Given the description of an element on the screen output the (x, y) to click on. 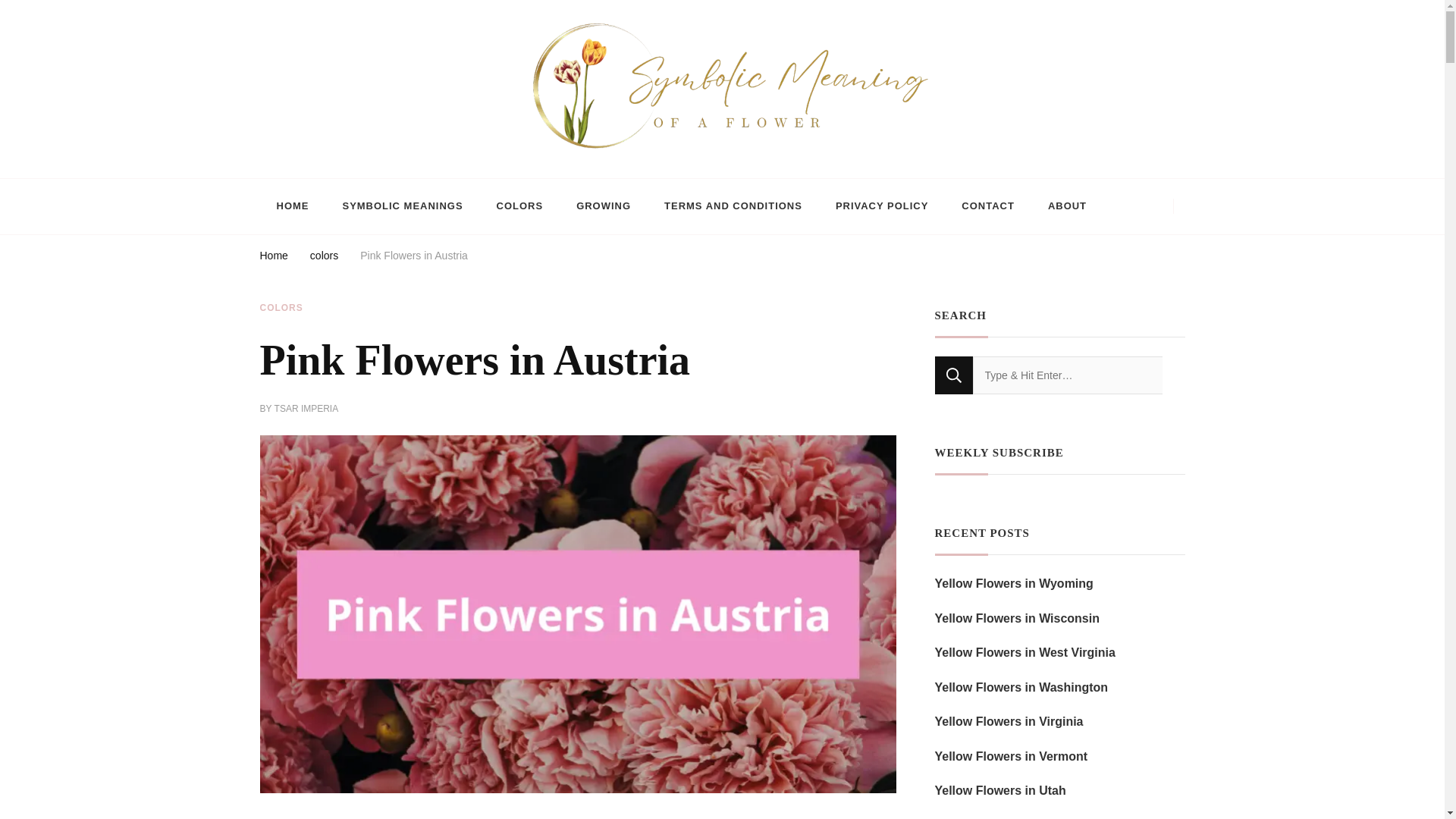
CONTACT (987, 206)
ABOUT (1066, 206)
colors (323, 257)
Search (953, 374)
Search (953, 374)
COLORS (520, 206)
Home (272, 257)
PRIVACY POLICY (881, 206)
SYMBOLIC MEANINGS (401, 206)
TSAR IMPERIA (307, 409)
HOME (291, 206)
TERMS AND CONDITIONS (732, 206)
GROWING (603, 206)
Symbolic Meaning Of A Flower (411, 170)
Pink Flowers in Austria (413, 257)
